Given the description of an element on the screen output the (x, y) to click on. 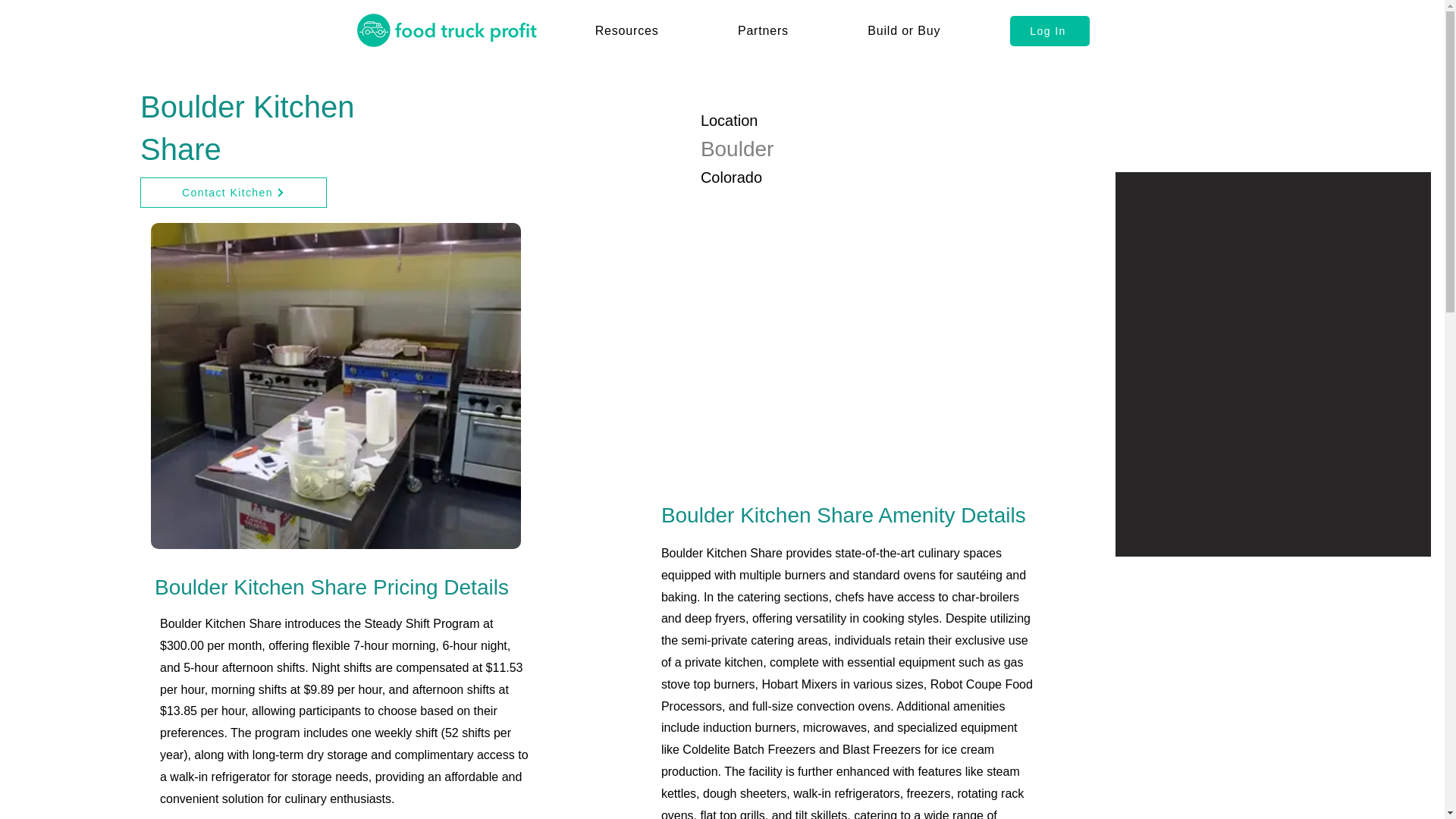
Log In (1049, 30)
Contact Kitchen (232, 192)
Boulder Kitchen Share (335, 385)
